Given the description of an element on the screen output the (x, y) to click on. 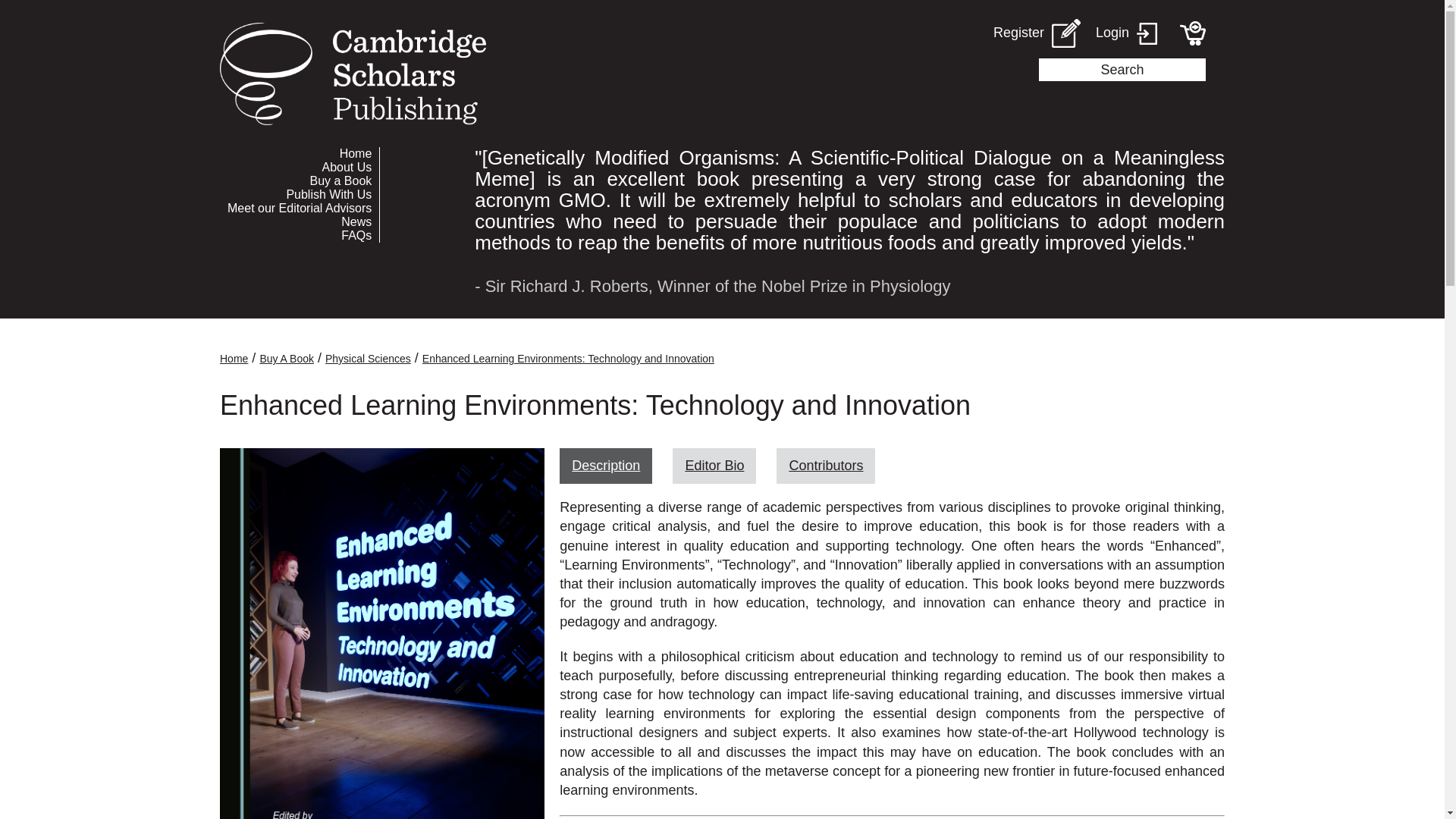
About Us (298, 167)
News (298, 222)
Buy a Book (298, 181)
Buy A Book (286, 358)
FAQs (298, 235)
Meet our Editorial Advisors (298, 208)
Publish With Us (298, 194)
Home (233, 358)
Enhanced Learning Environments: Technology and Innovation (568, 358)
Editor Bio (713, 465)
